Given the description of an element on the screen output the (x, y) to click on. 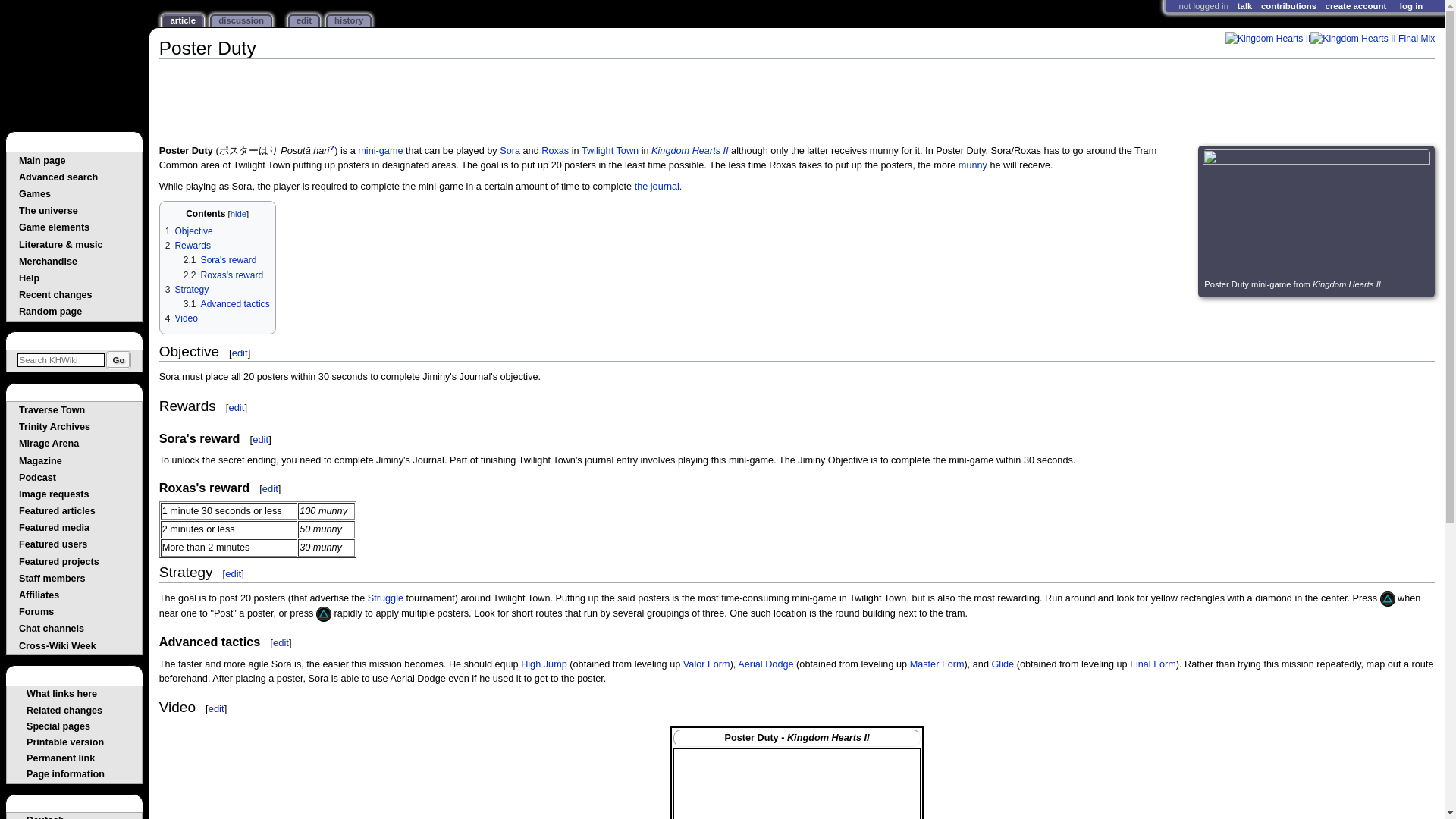
4 Video (181, 317)
Roxas (555, 150)
Aerial Dodge (765, 663)
3.1 Advanced tactics (226, 303)
2 Rewards (188, 245)
Glide (1002, 663)
edit (259, 439)
Kingdom Hearts II (1267, 37)
Edit section: Roxas's reward (270, 488)
Twilight Town (609, 150)
